Given the description of an element on the screen output the (x, y) to click on. 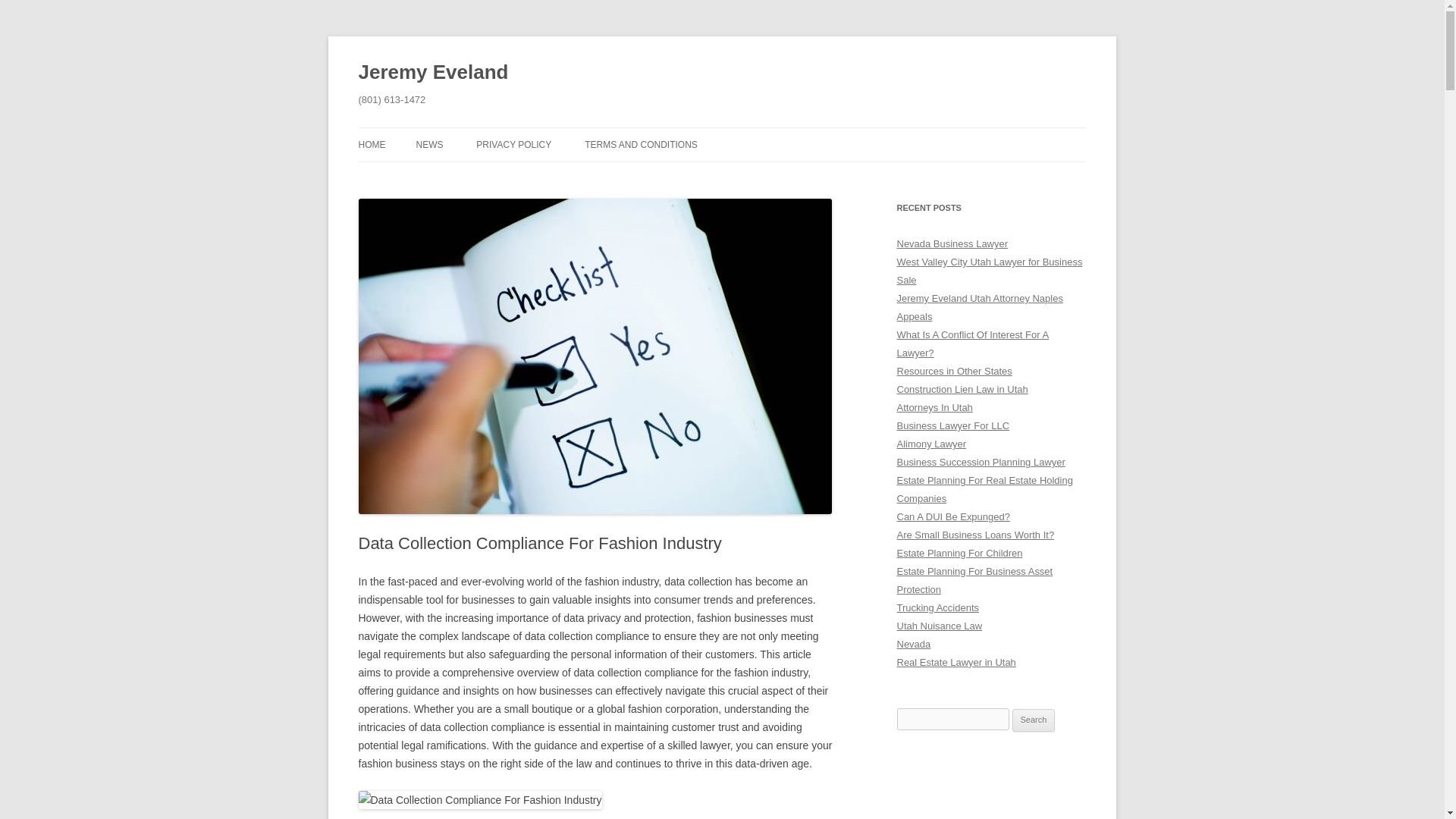
Appeals (913, 316)
Estate Planning For Children (959, 552)
Estate Planning For Business Asset Protection (974, 580)
Utah Nuisance Law (938, 625)
Search (1033, 720)
Nevada Business Lawyer (951, 243)
Real Estate Lawyer in Utah (955, 662)
Business Lawyer For LLC (952, 425)
Alimony Lawyer (931, 443)
Jeremy Eveland (433, 72)
Trucking Accidents (937, 607)
Construction Lien Law in Utah (961, 389)
West Valley City Utah Lawyer for Business Sale (988, 270)
Nevada (913, 644)
